Given the description of an element on the screen output the (x, y) to click on. 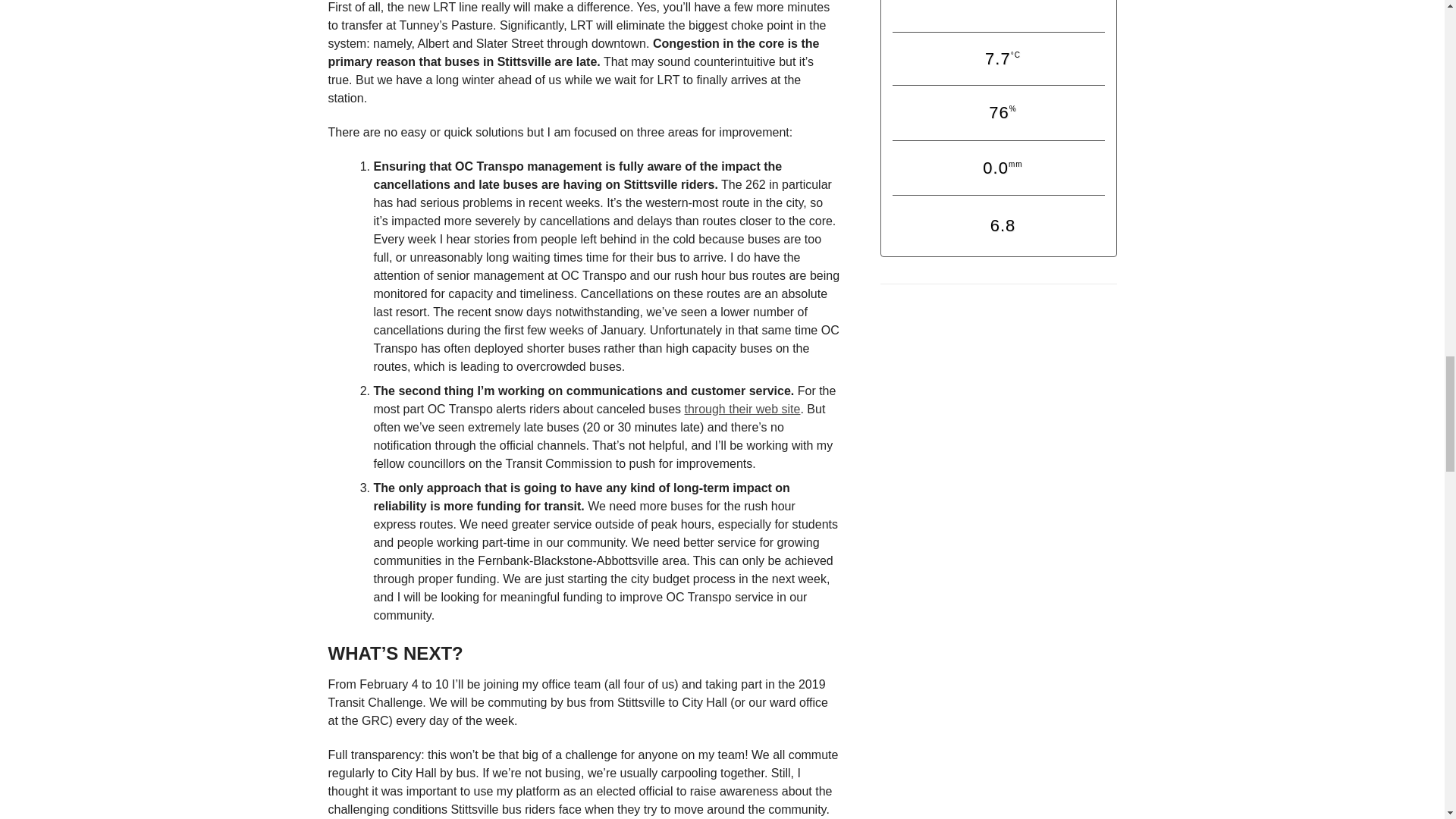
Rainfall (998, 169)
Wind chill (998, 227)
Temperature (997, 59)
through their web site (741, 408)
Relative humidity (997, 113)
Current weather conditions (998, 15)
